Given the description of an element on the screen output the (x, y) to click on. 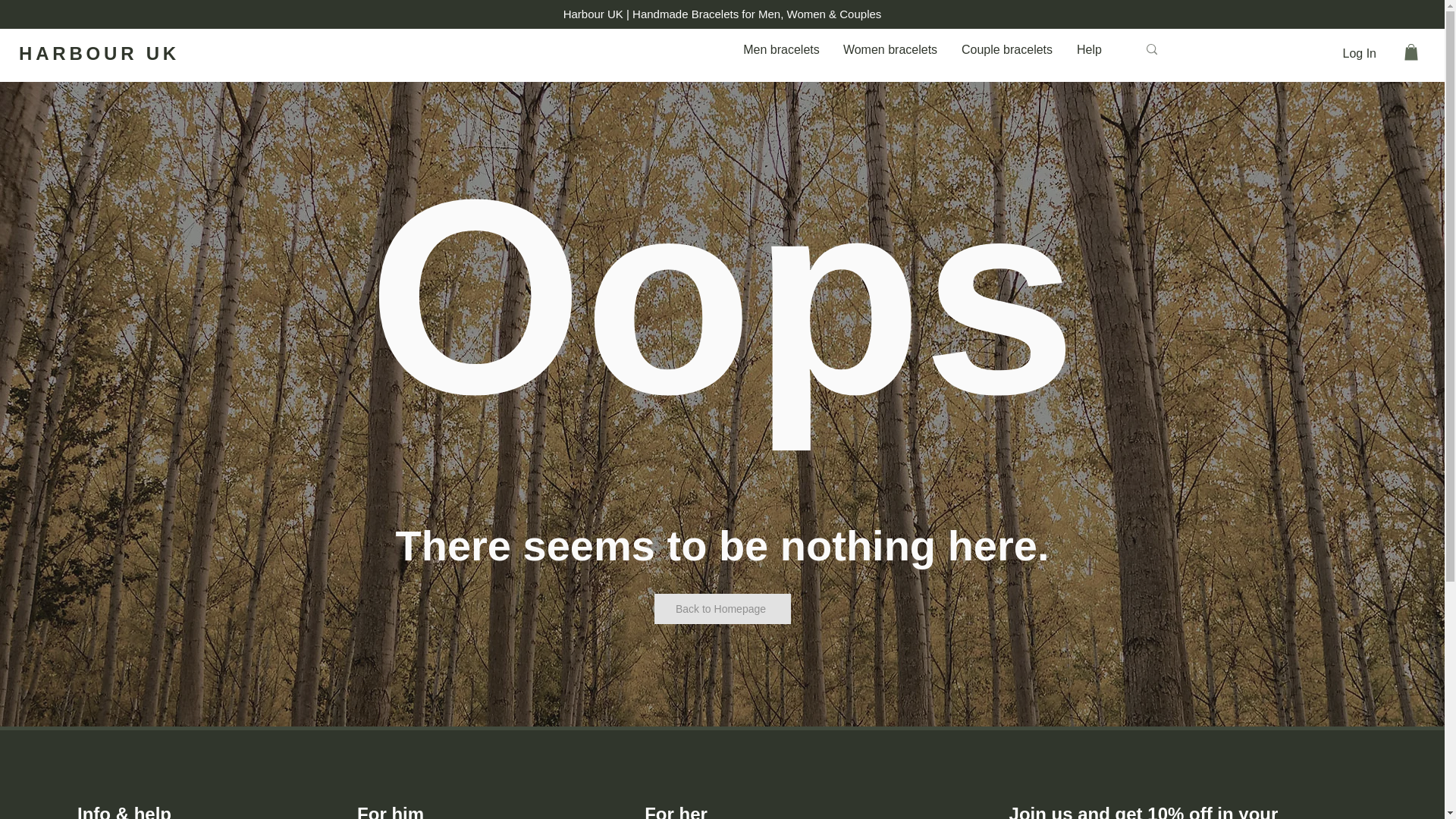
HARBOUR UK (98, 53)
Couple bracelets (1006, 49)
Back to Homepage (721, 607)
Log In (1359, 53)
Women bracelets (890, 49)
Men bracelets (781, 49)
